Given the description of an element on the screen output the (x, y) to click on. 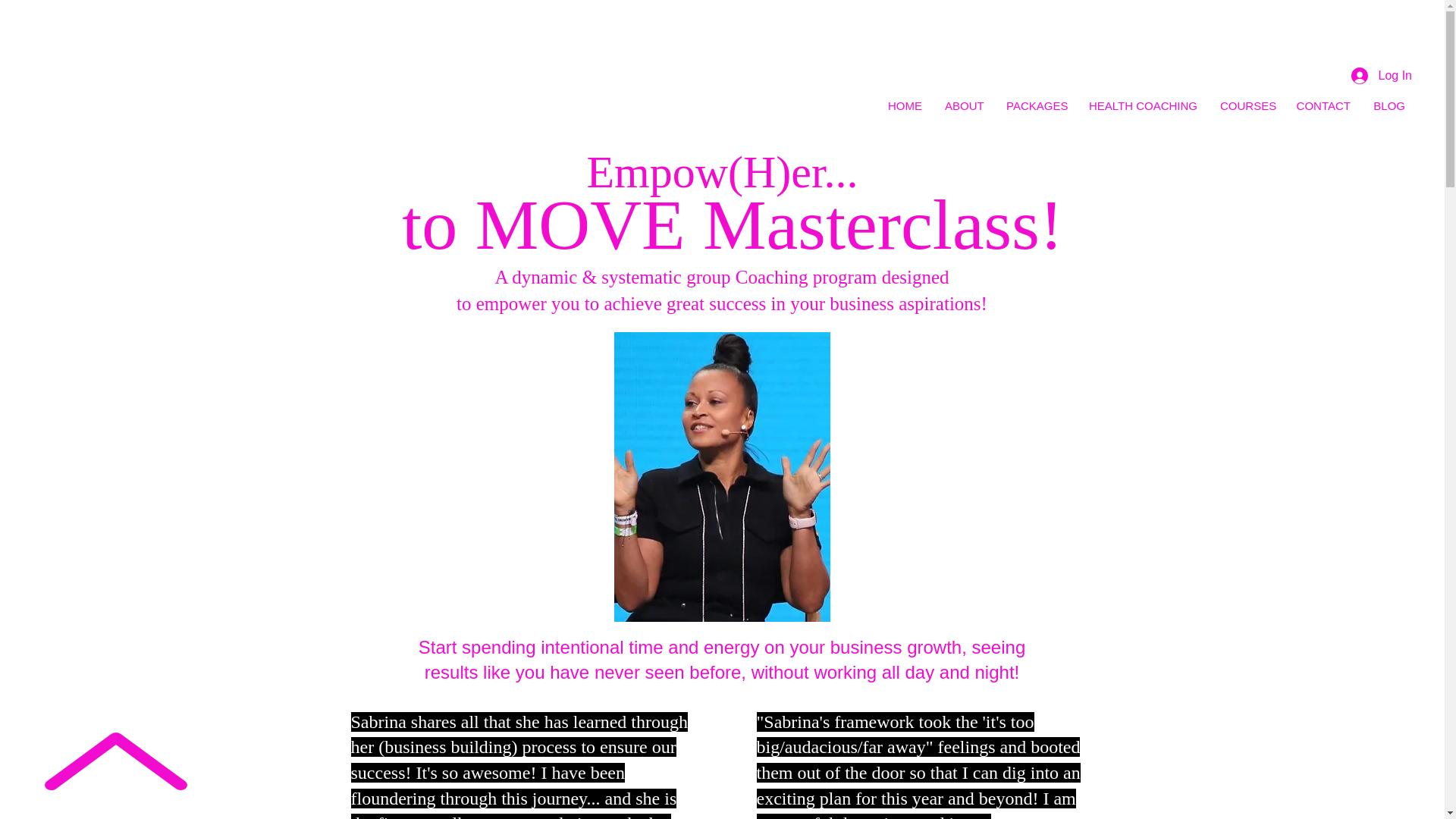
COURSES (1245, 105)
HEALTH COACHING (1141, 105)
HOME (904, 105)
PACKAGES (1034, 105)
ABOUT (963, 105)
CONTACT (1321, 105)
BLOG (1388, 105)
Log In (1381, 75)
